Given the description of an element on the screen output the (x, y) to click on. 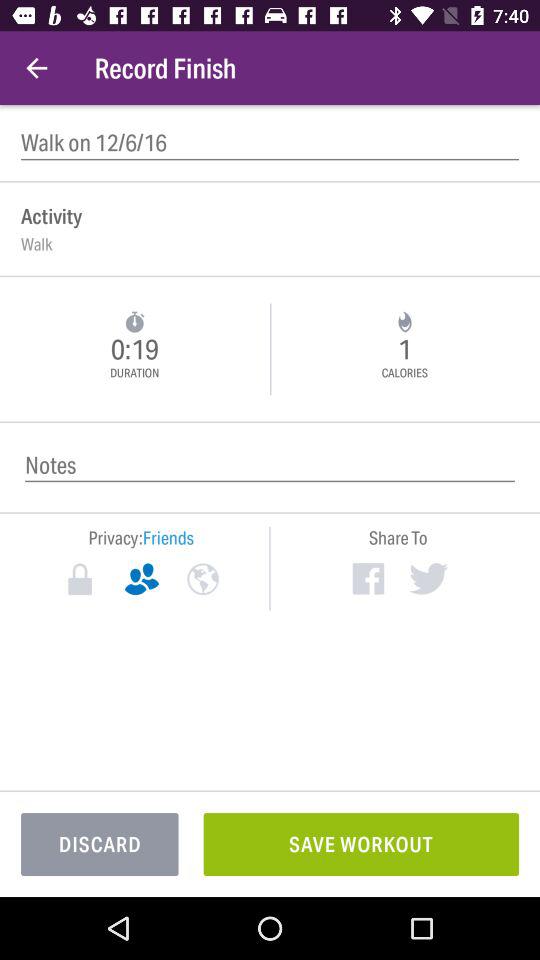
scroll to the save workout icon (361, 844)
